Given the description of an element on the screen output the (x, y) to click on. 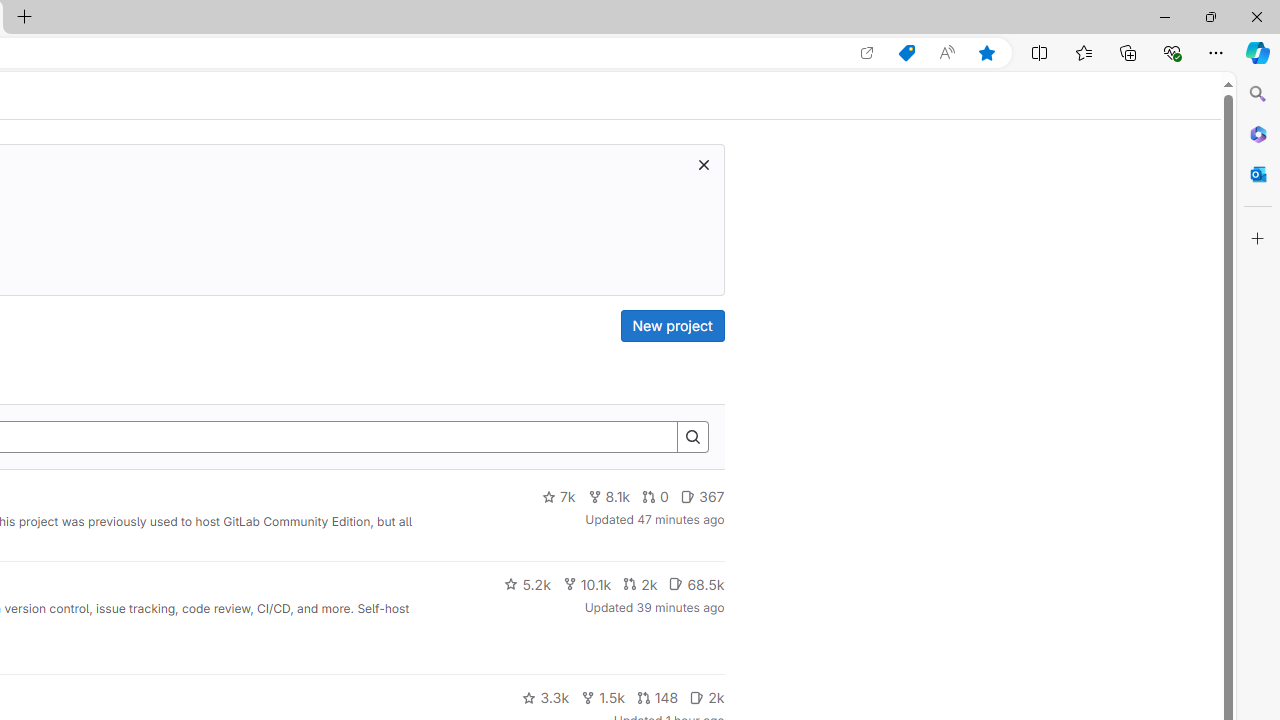
1.5k (602, 697)
Class: s16 gl-icon gl-button-icon  (703, 164)
3.3k (545, 697)
New project (671, 326)
7k (558, 497)
10.1k (586, 583)
